Given the description of an element on the screen output the (x, y) to click on. 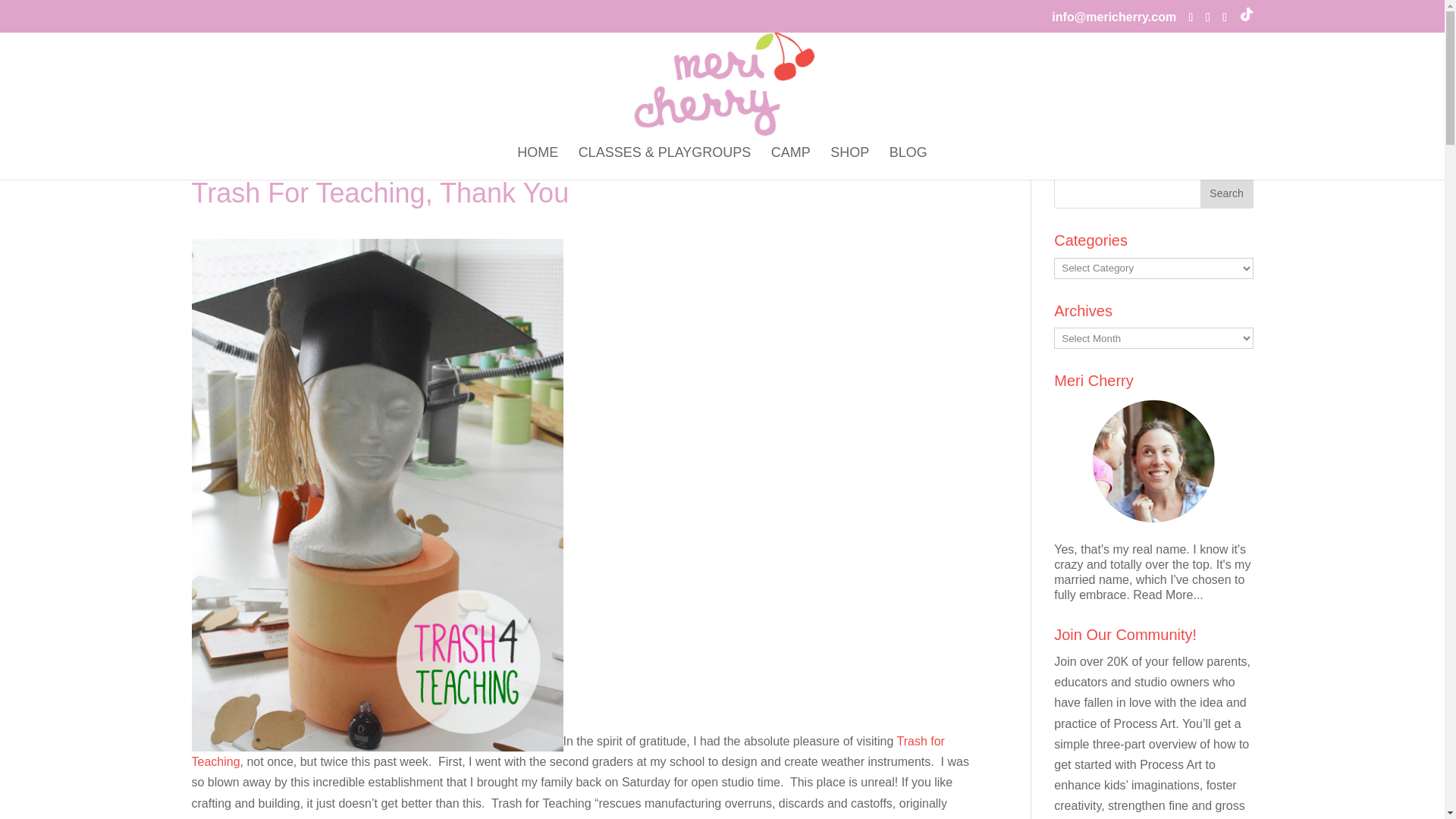
Trash for Teaching (566, 751)
Read More... (1167, 594)
HOME (536, 163)
Search (1225, 193)
BLOG (908, 163)
Search (1225, 193)
SHOP (849, 163)
TikTok (1245, 14)
CAMP (790, 163)
Read More (1167, 594)
